Given the description of an element on the screen output the (x, y) to click on. 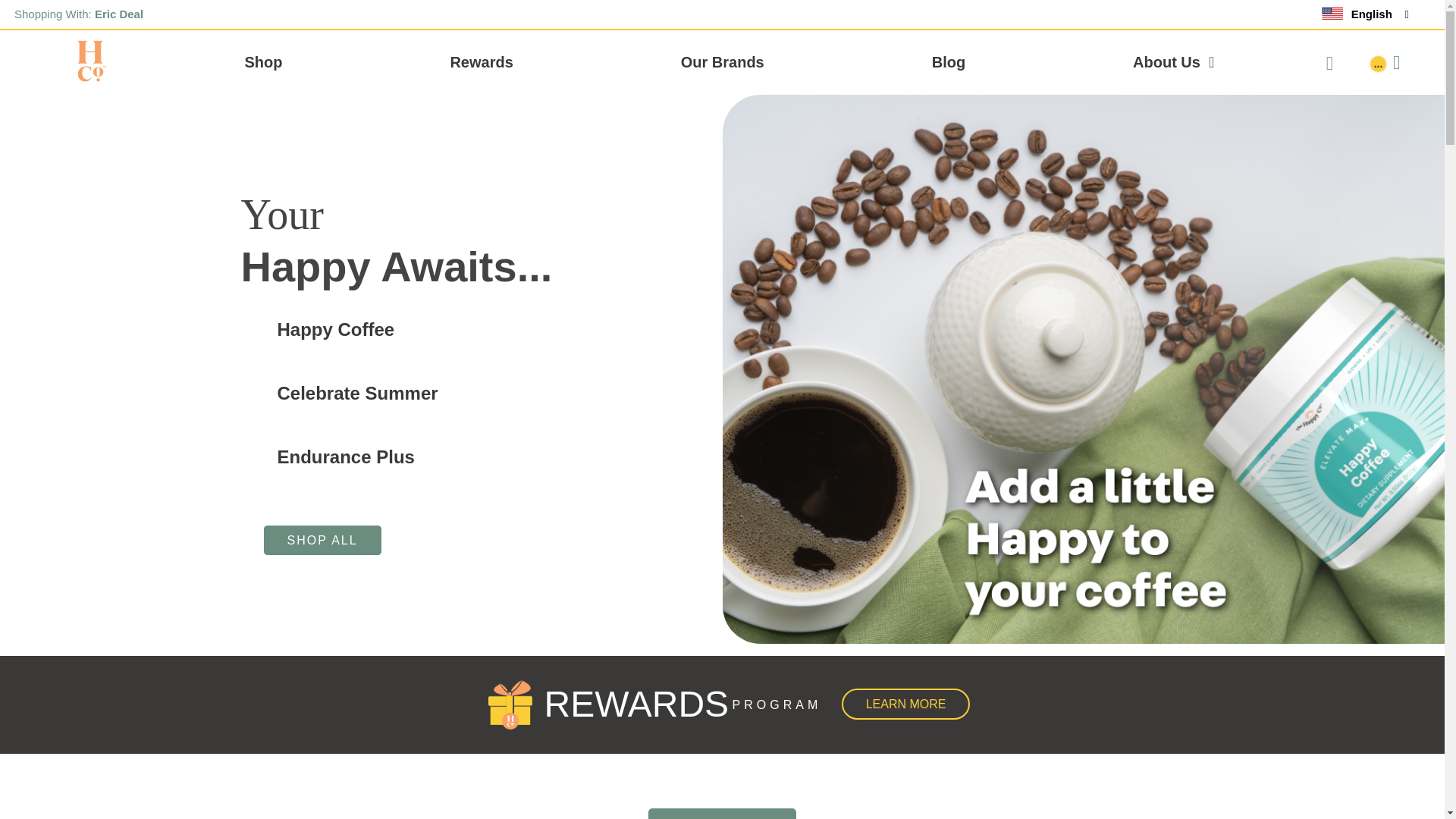
SHOP ALL (721, 813)
About Us   (1173, 62)
Celebrate Summer (481, 393)
SHOP ALL (322, 540)
Blog (948, 62)
Shop (263, 62)
Happy Coffee (481, 329)
Endurance Plus (481, 457)
Rewards (481, 62)
Our Brands (722, 62)
 English     (1364, 15)
... (1398, 62)
LEARN MORE (906, 704)
